Given the description of an element on the screen output the (x, y) to click on. 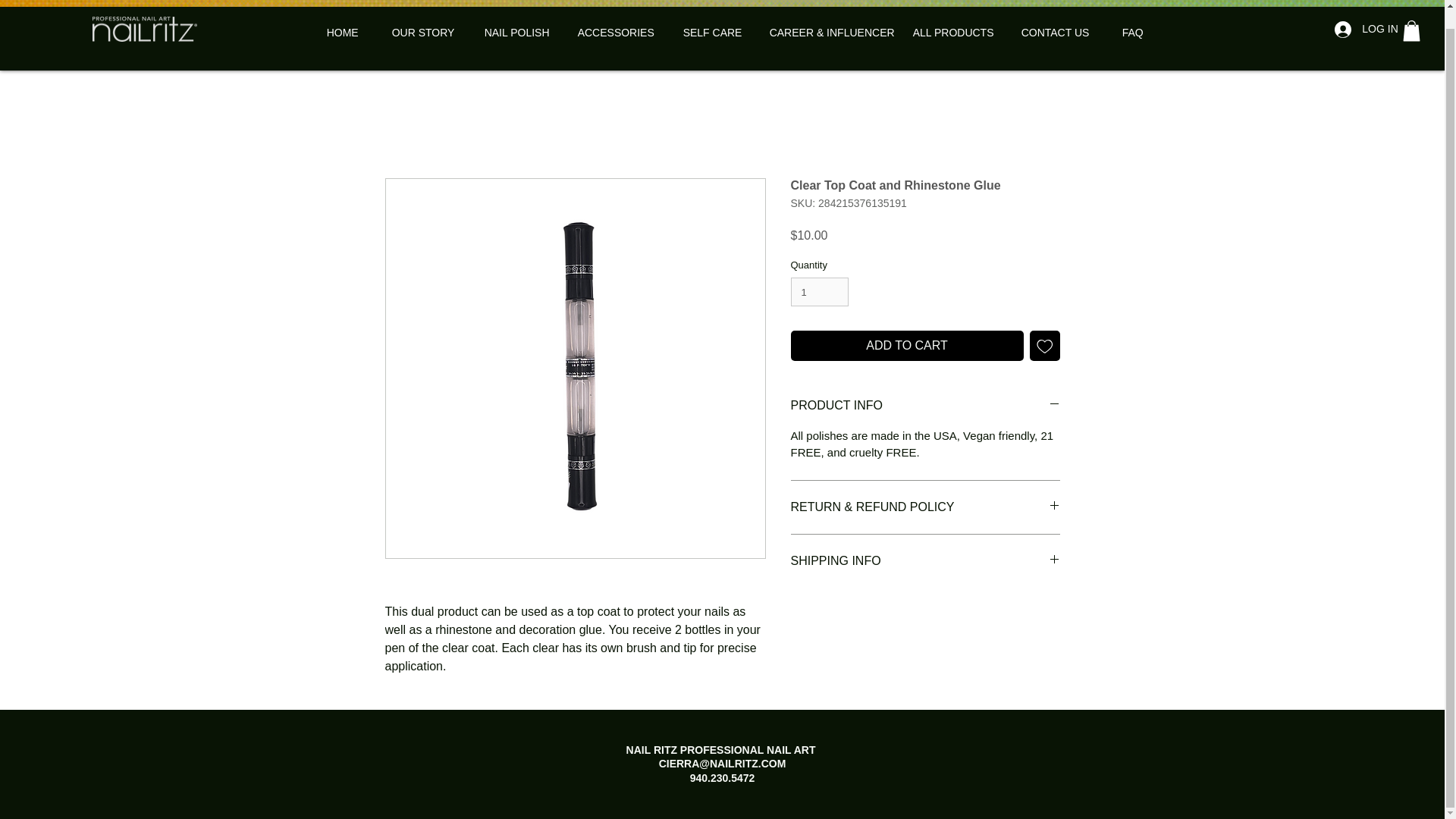
NailRitzLogo (144, 28)
CONTACT US (1064, 32)
HOME (351, 32)
NAIL POLISH (523, 32)
PRODUCT INFO (924, 405)
ADD TO CART (906, 345)
1 (818, 291)
SELF CARE (718, 32)
LOG IN (1362, 29)
FAQ (1142, 32)
